Given the description of an element on the screen output the (x, y) to click on. 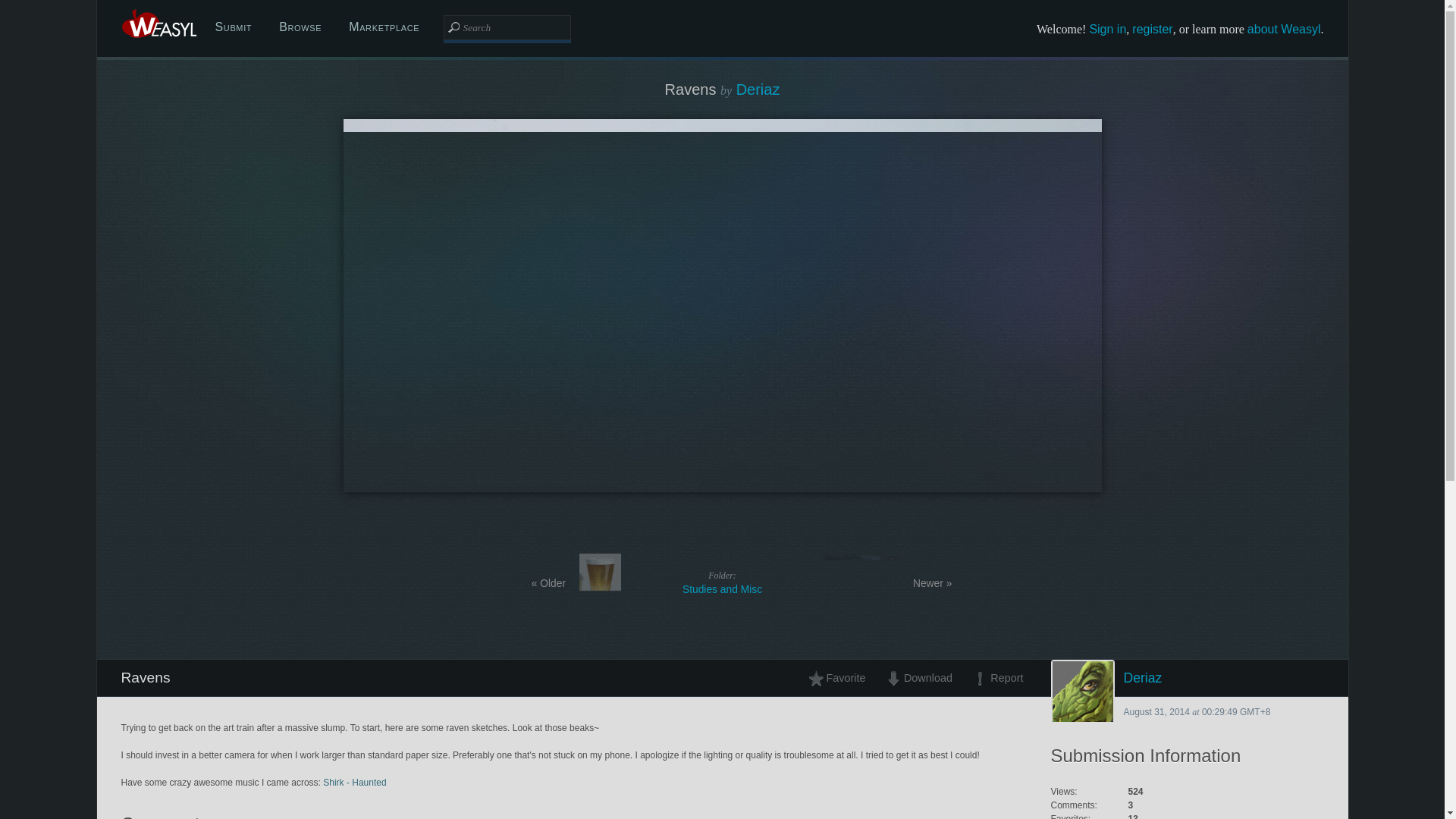
register (1152, 29)
about Weasyl (1283, 29)
Shirk - Haunted (354, 782)
Deriaz (721, 582)
Deriaz (1187, 678)
Sign in (758, 89)
Marketplace (1107, 29)
Browse (383, 27)
Report (299, 27)
